Given the description of an element on the screen output the (x, y) to click on. 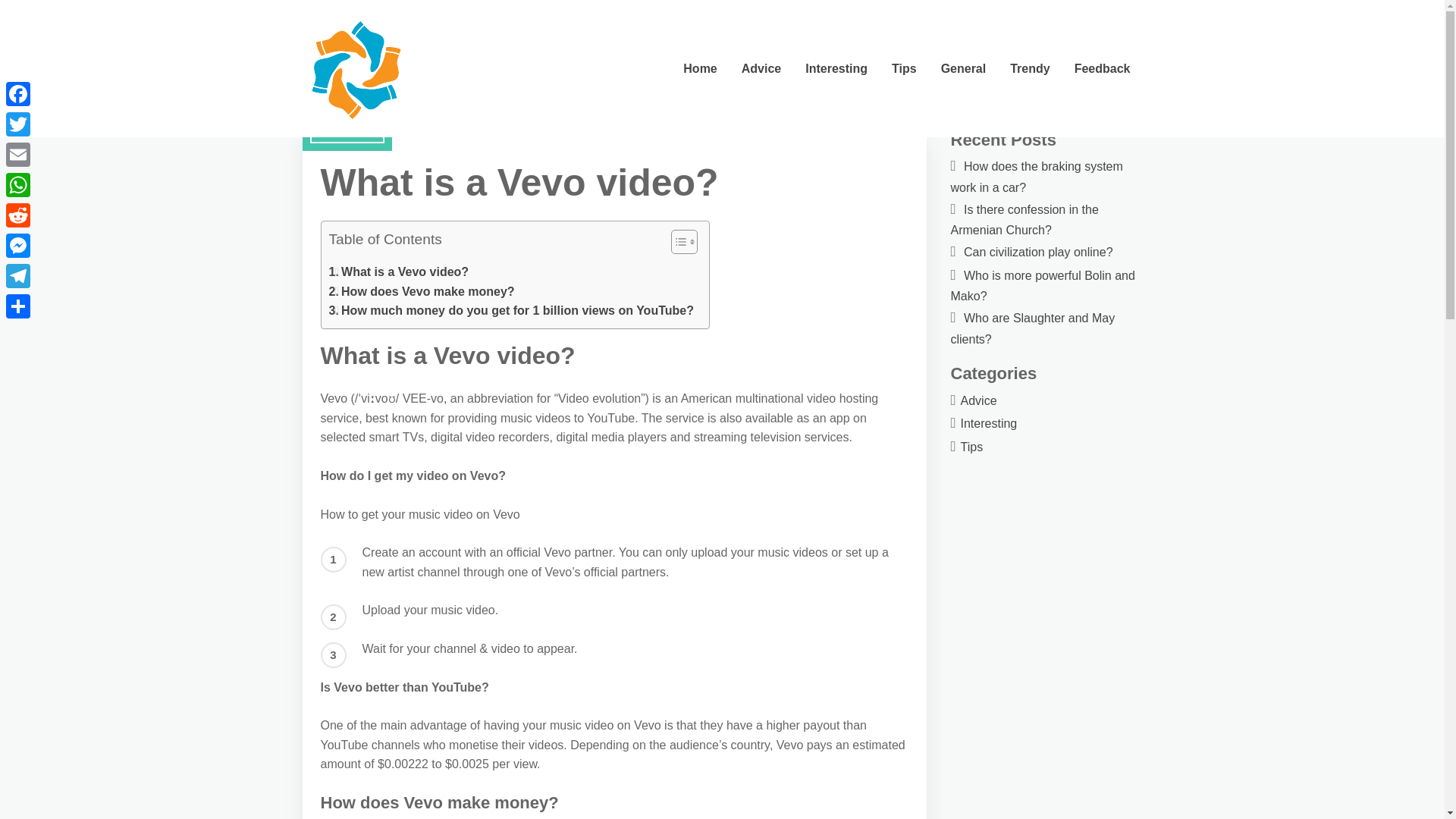
Feedback (1102, 68)
How does Vevo make money? (422, 291)
How much money do you get for 1 billion views on YouTube? (511, 311)
Is there confession in the Armenian Church? (1024, 220)
How does the braking system work in a car? (1036, 176)
General (963, 68)
Trendy (1029, 68)
WhatsApp (17, 184)
Twitter (17, 123)
Facebook (17, 93)
Tips (903, 68)
What is a Vevo video? (398, 271)
What is a Vevo video? (398, 271)
How much money do you get for 1 billion views on YouTube? (511, 311)
Email (17, 154)
